Given the description of an element on the screen output the (x, y) to click on. 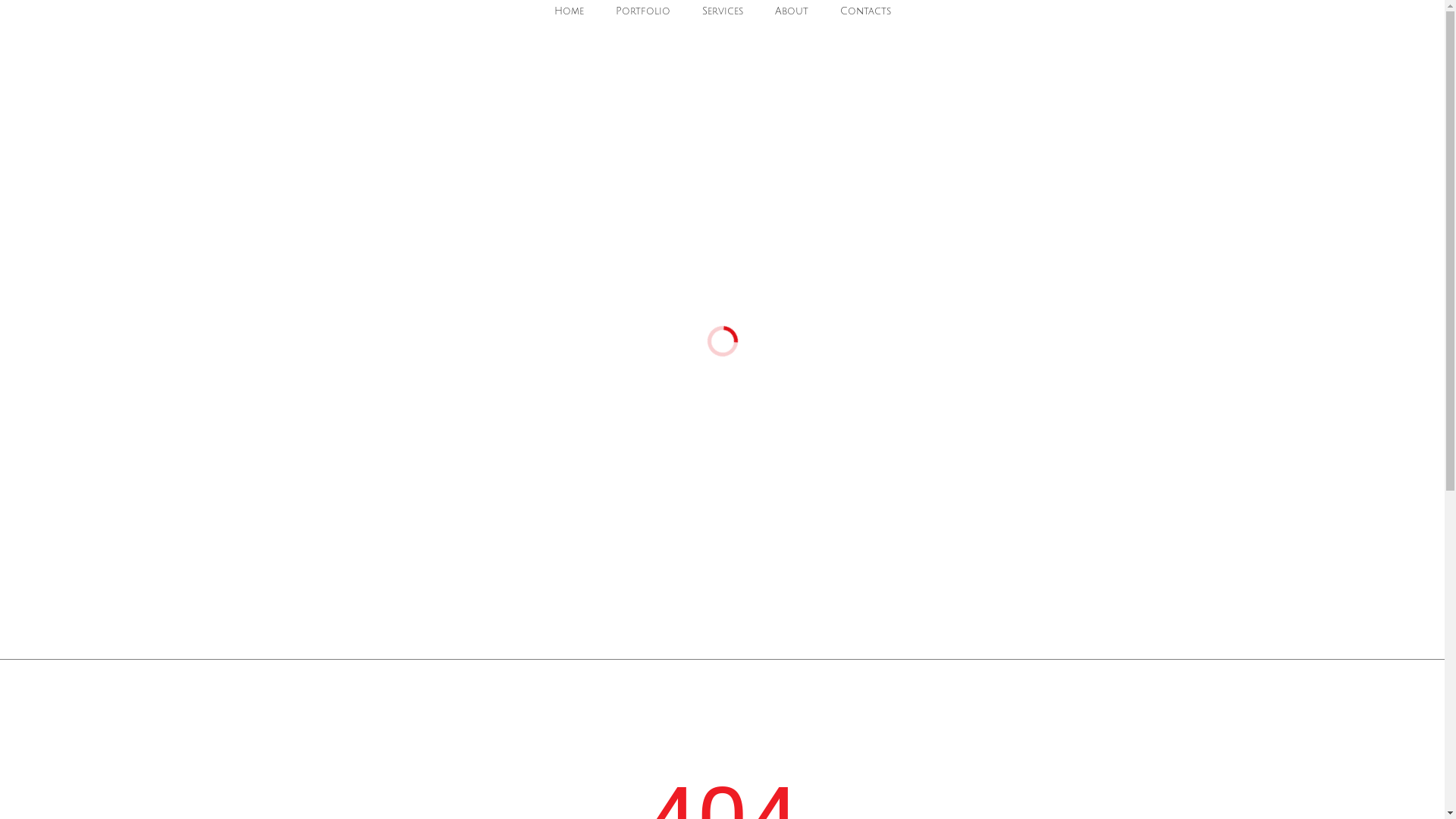
Home Element type: text (568, 11)
Contacts Element type: text (865, 11)
About Element type: text (791, 11)
Services Element type: text (722, 11)
Portfolio Element type: text (642, 11)
